Given the description of an element on the screen output the (x, y) to click on. 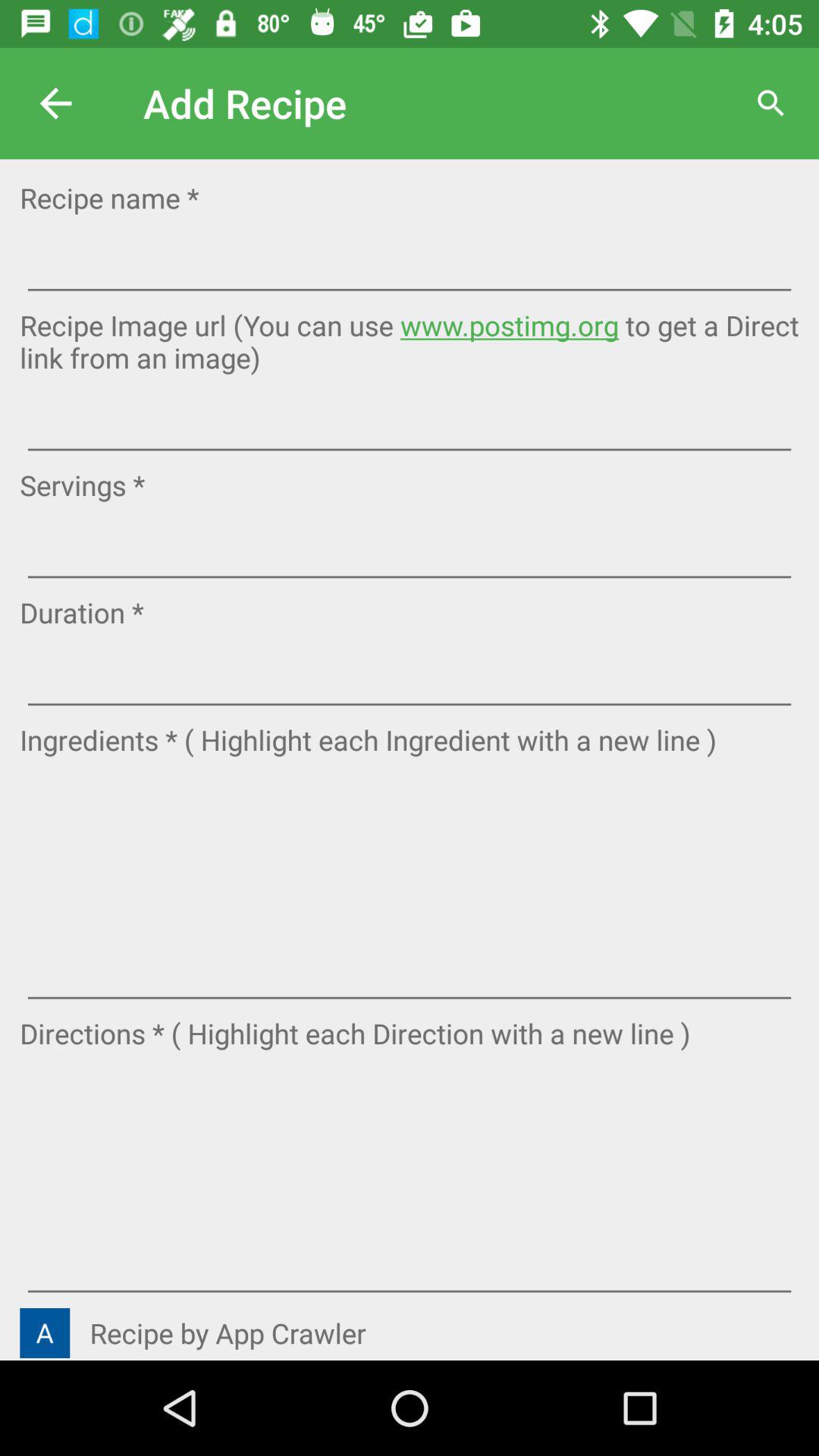
click on the link (409, 293)
